Given the description of an element on the screen output the (x, y) to click on. 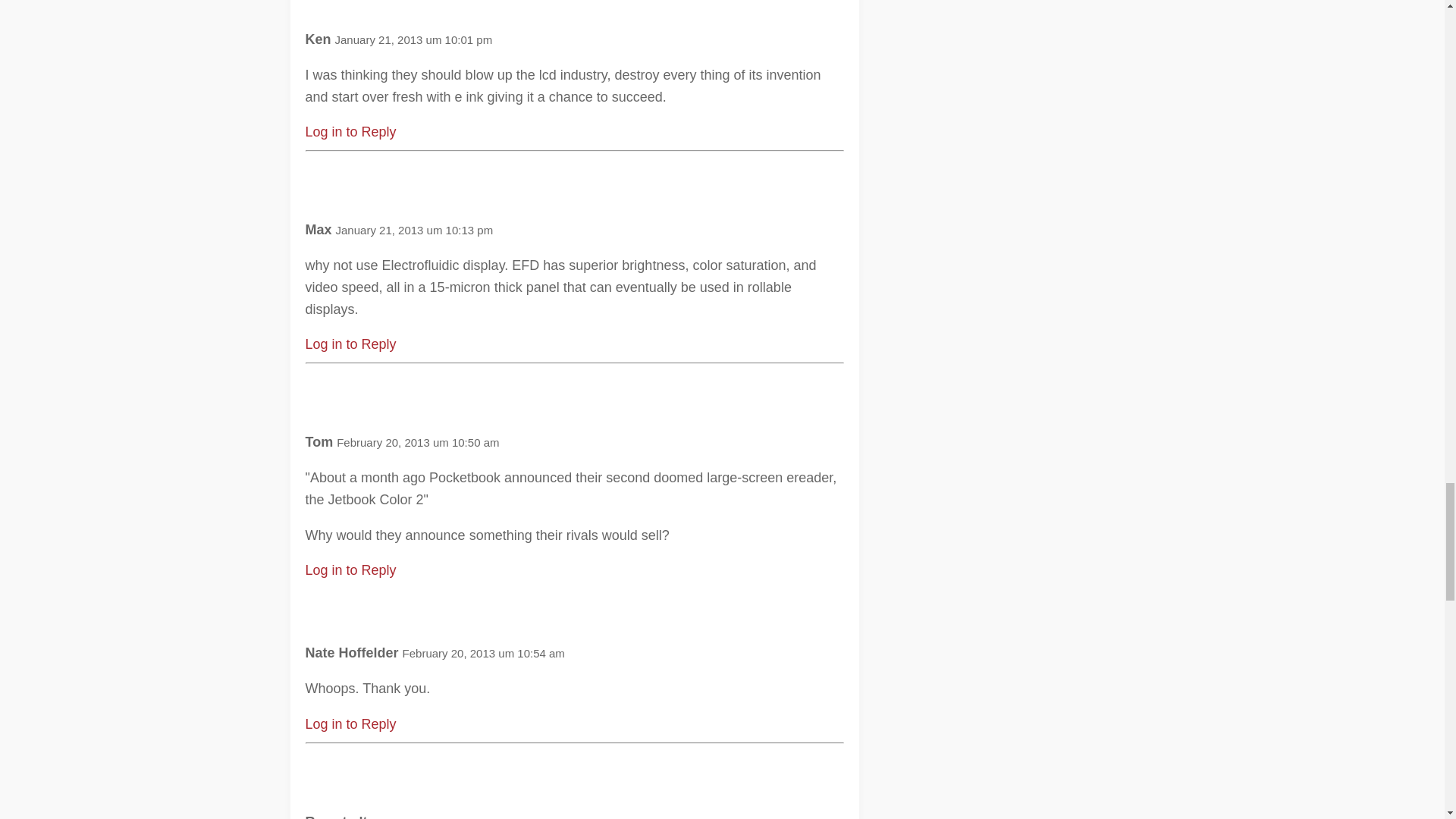
Log in to Reply (350, 131)
Log in to Reply (350, 724)
Log in to Reply (350, 570)
Log in to Reply (350, 344)
